Given the description of an element on the screen output the (x, y) to click on. 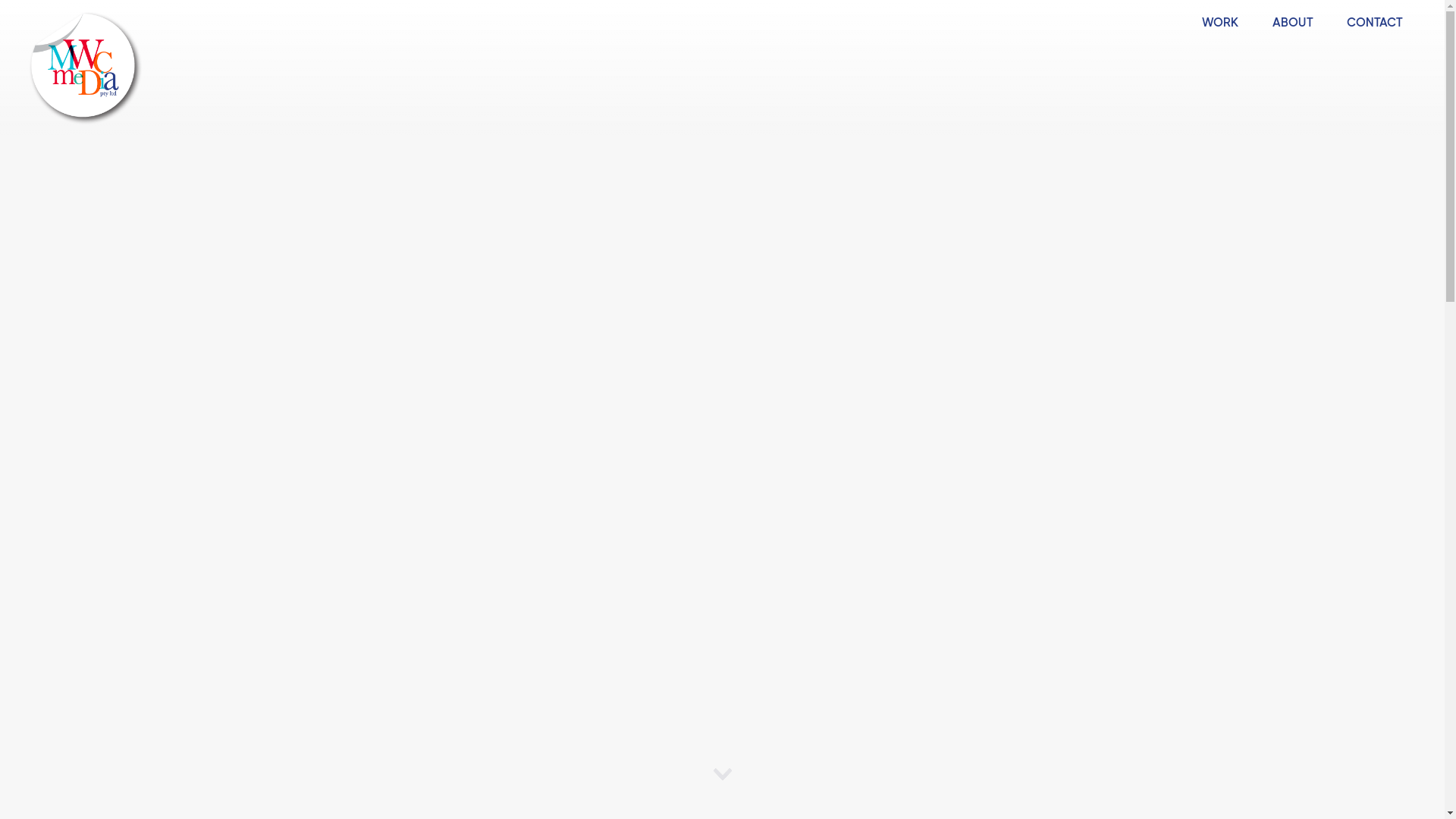
CONTACT Element type: text (1374, 22)
WORK Element type: text (1220, 22)
ABOUT Element type: text (1292, 22)
